Given the description of an element on the screen output the (x, y) to click on. 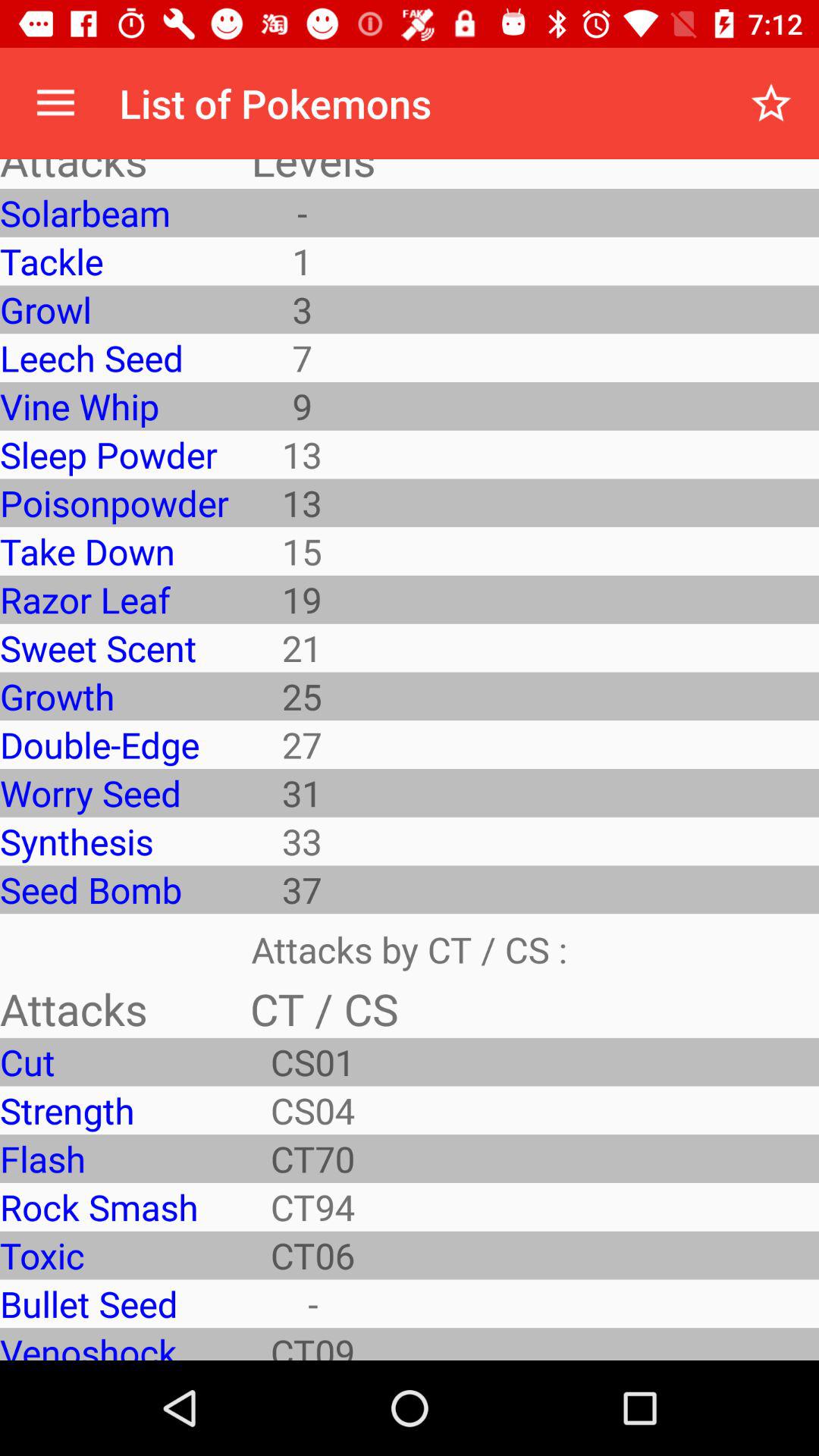
press icon to the right of list of pokemons (771, 103)
